Given the description of an element on the screen output the (x, y) to click on. 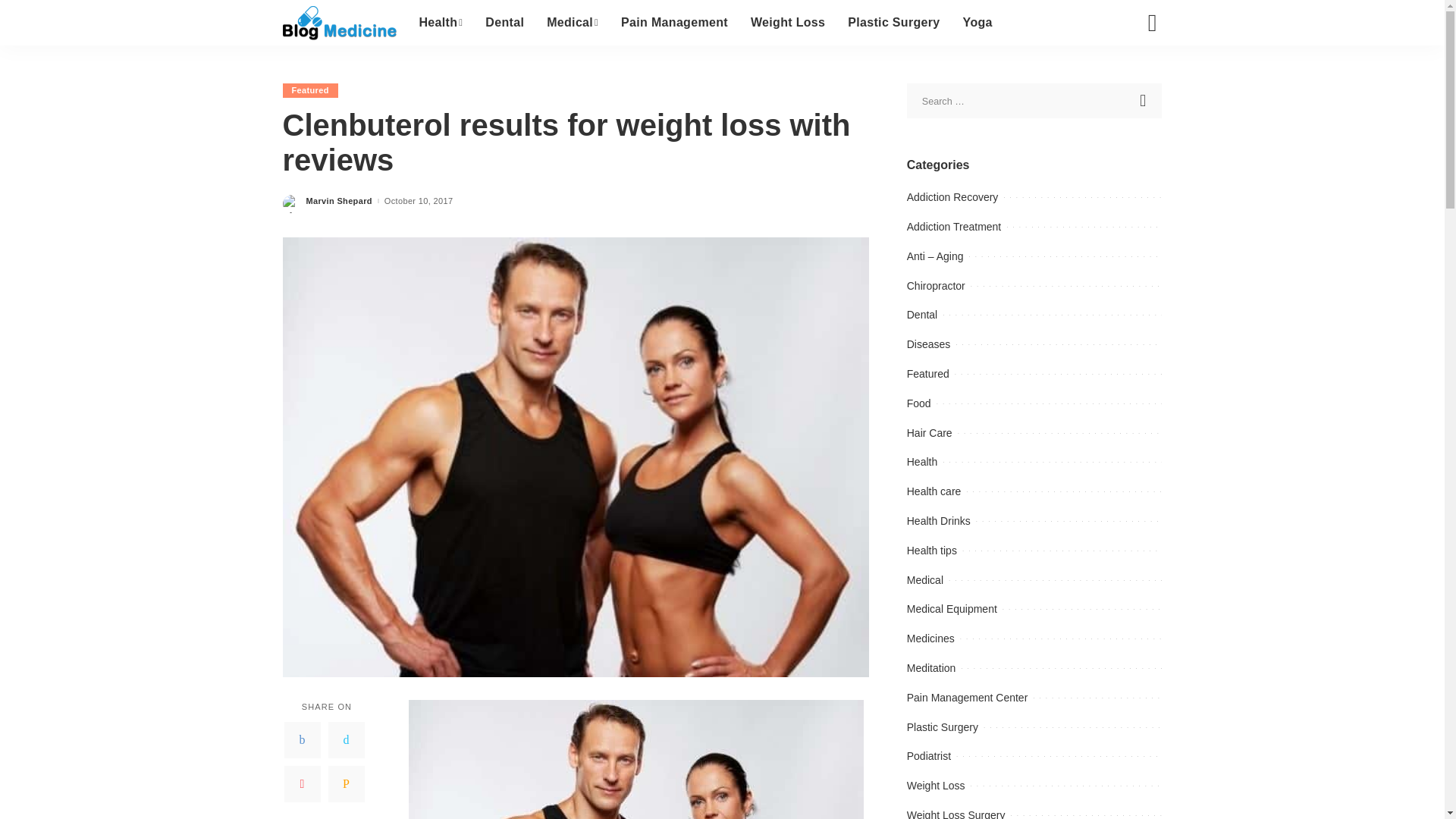
Blog Medicine (339, 22)
Health (440, 22)
Weight Loss (787, 22)
Twitter (345, 739)
Search (1143, 100)
Search (1140, 76)
Pinterest (301, 783)
Search (1143, 100)
Pain Management (674, 22)
Marvin Shepard (338, 201)
Email (345, 783)
Plastic Surgery (892, 22)
Yoga (978, 22)
Dental (504, 22)
Medical (572, 22)
